Given the description of an element on the screen output the (x, y) to click on. 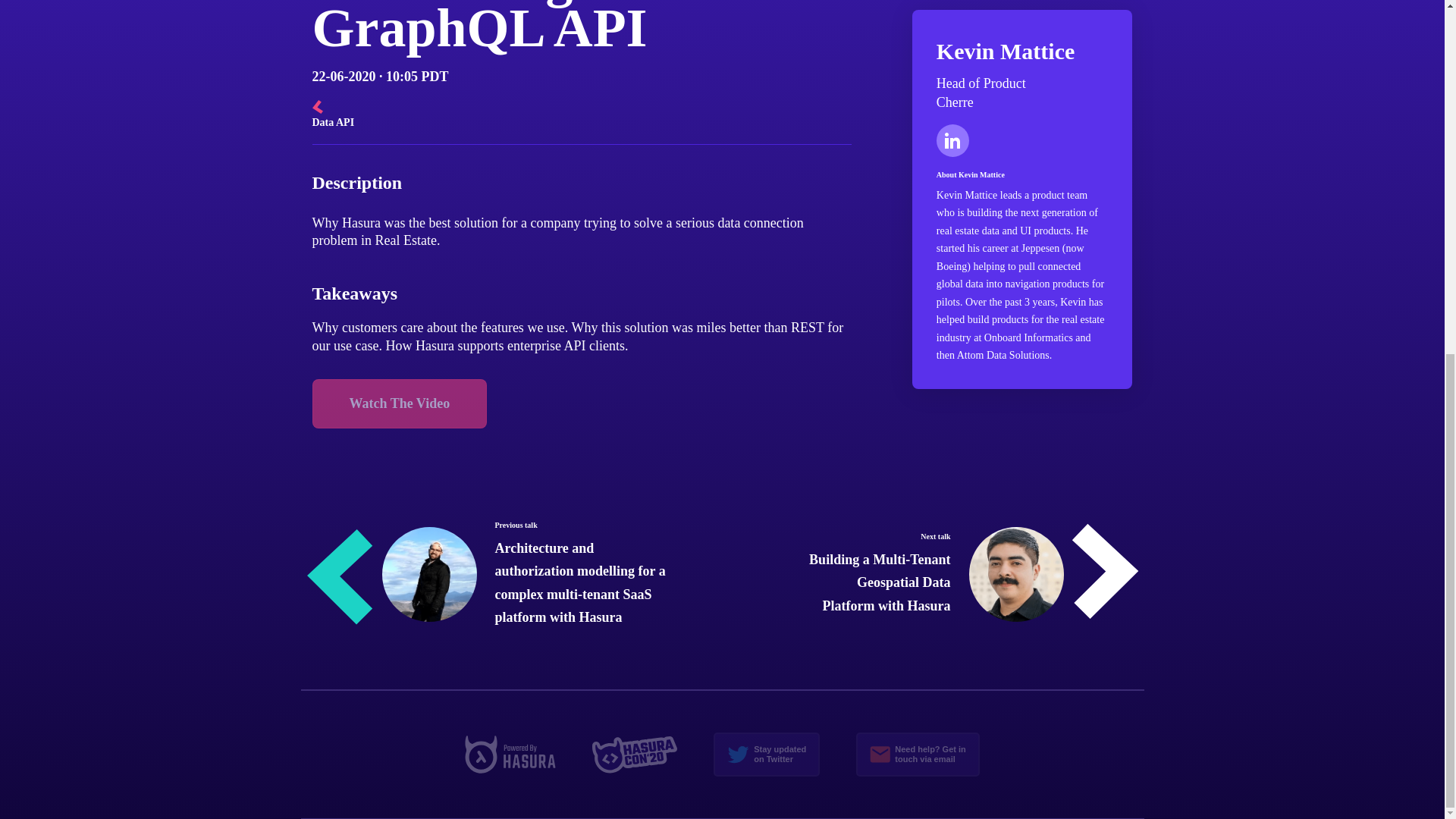
Watch The Video (917, 754)
Cherre (400, 403)
Watch The Video (766, 754)
